Given the description of an element on the screen output the (x, y) to click on. 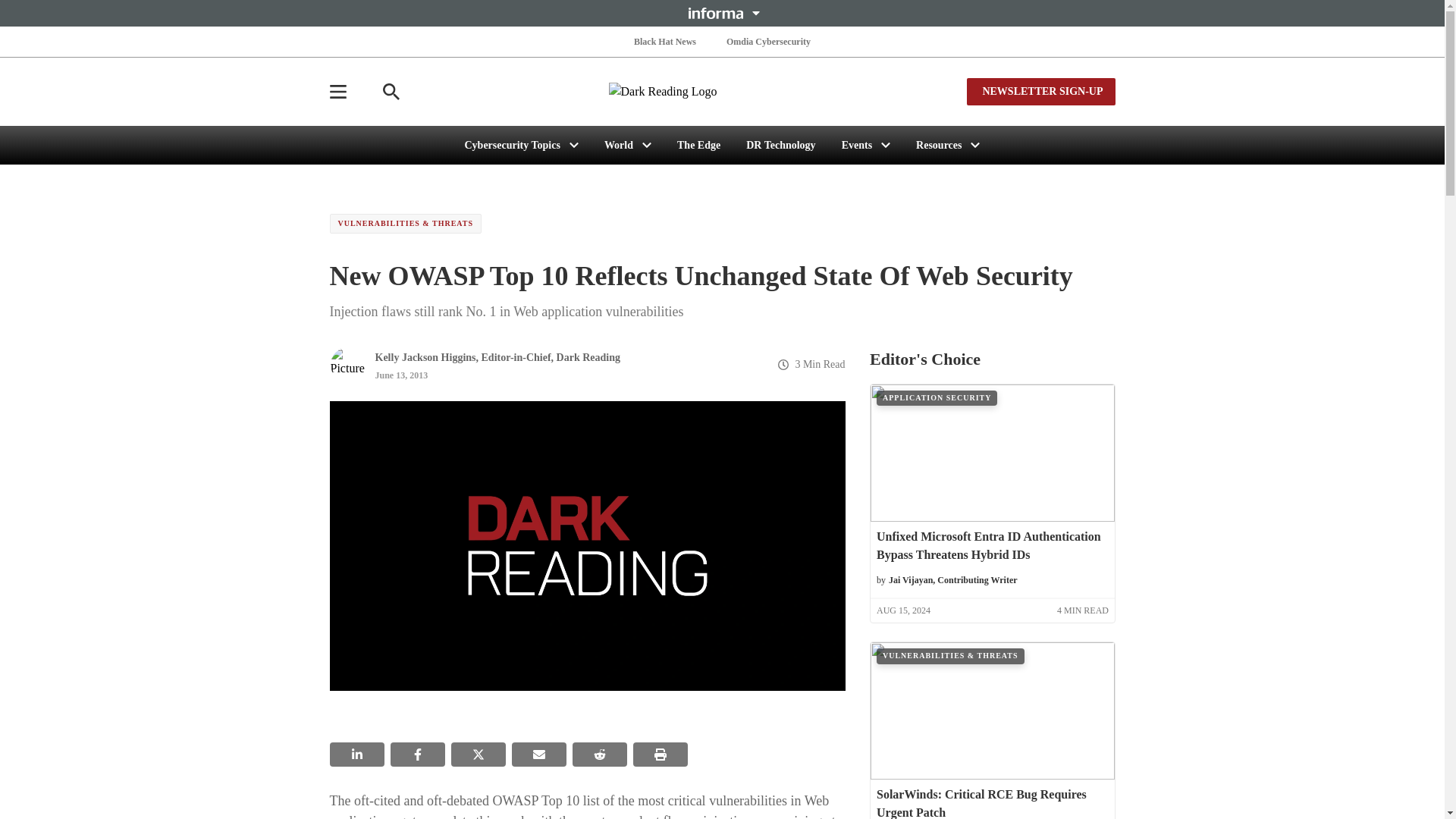
Black Hat News (664, 41)
Dark Reading Logo (721, 91)
Omdia Cybersecurity (768, 41)
NEWSLETTER SIGN-UP (1040, 90)
